Given the description of an element on the screen output the (x, y) to click on. 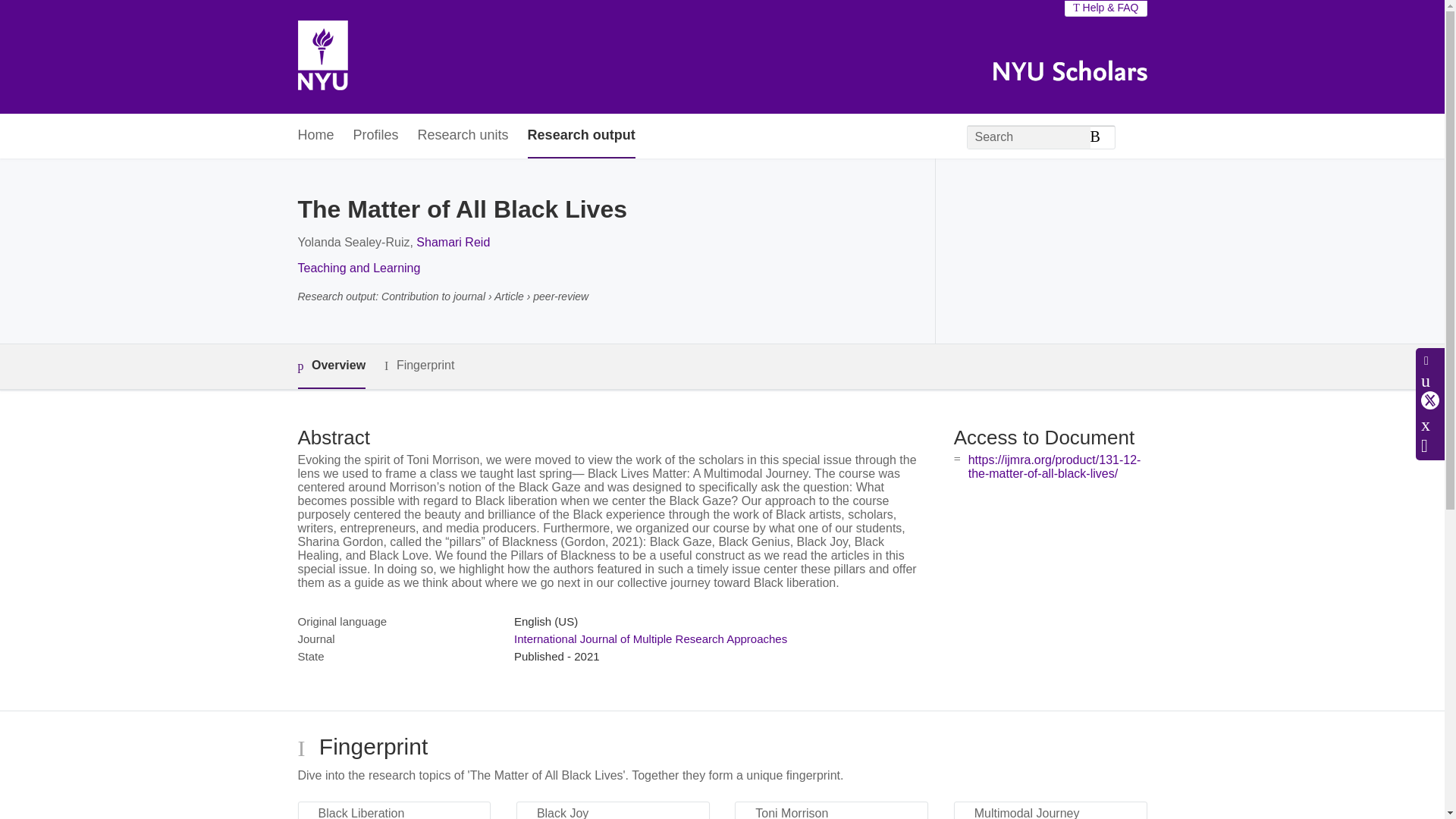
International Journal of Multiple Research Approaches (650, 638)
Teaching and Learning (358, 267)
Shamari Reid (452, 241)
Research units (462, 135)
Research output (580, 135)
Overview (331, 366)
Profiles (375, 135)
Fingerprint (419, 365)
